Given the description of an element on the screen output the (x, y) to click on. 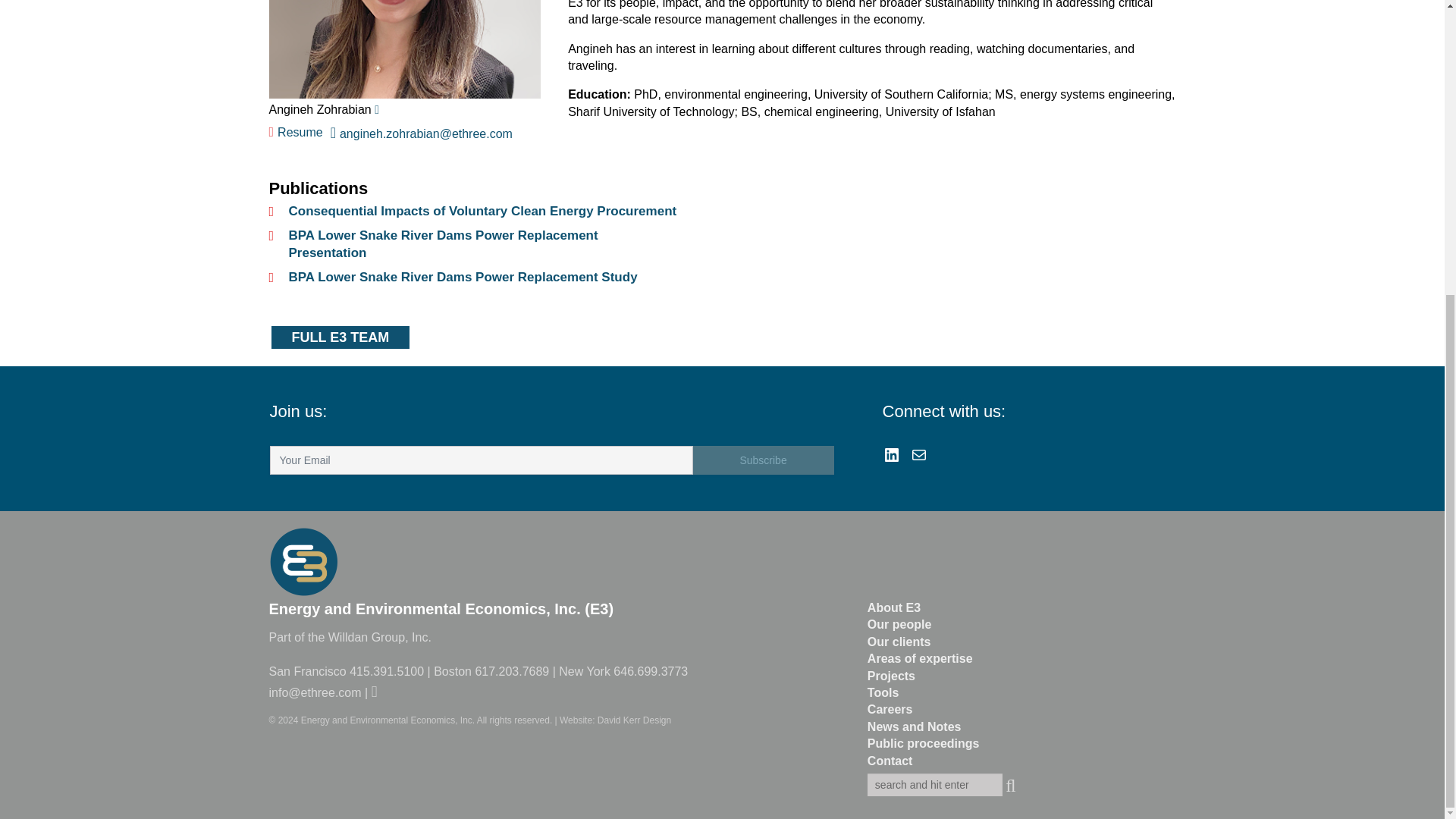
BPA Lower Snake River Dams Power Replacement Study (462, 277)
Our people (899, 624)
Mail (919, 454)
LinkedIn (891, 454)
Subscribe (763, 460)
Careers (889, 708)
Projects (891, 675)
Areas of expertise (919, 658)
Resume (298, 132)
Subscribe (763, 460)
David Kerr Design (633, 719)
Energy and Environmental Economics, Inc. (387, 719)
Consequential Impacts of Voluntary Clean Energy Procurement (482, 210)
About E3 (893, 607)
BPA Lower Snake River Dams Power Replacement Presentation (442, 244)
